Given the description of an element on the screen output the (x, y) to click on. 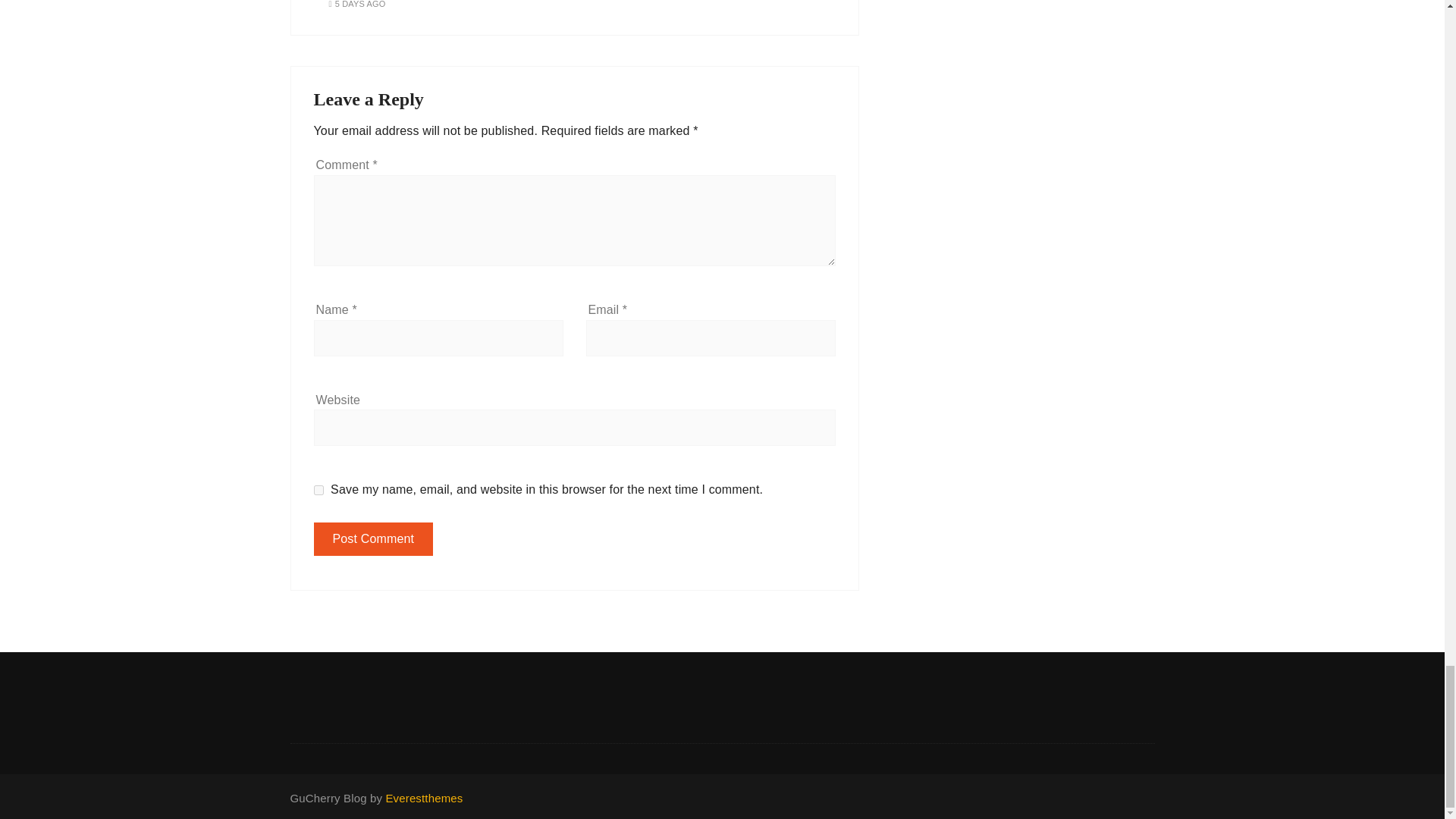
yes (318, 490)
Post Comment (373, 539)
Post Comment (373, 539)
